Given the description of an element on the screen output the (x, y) to click on. 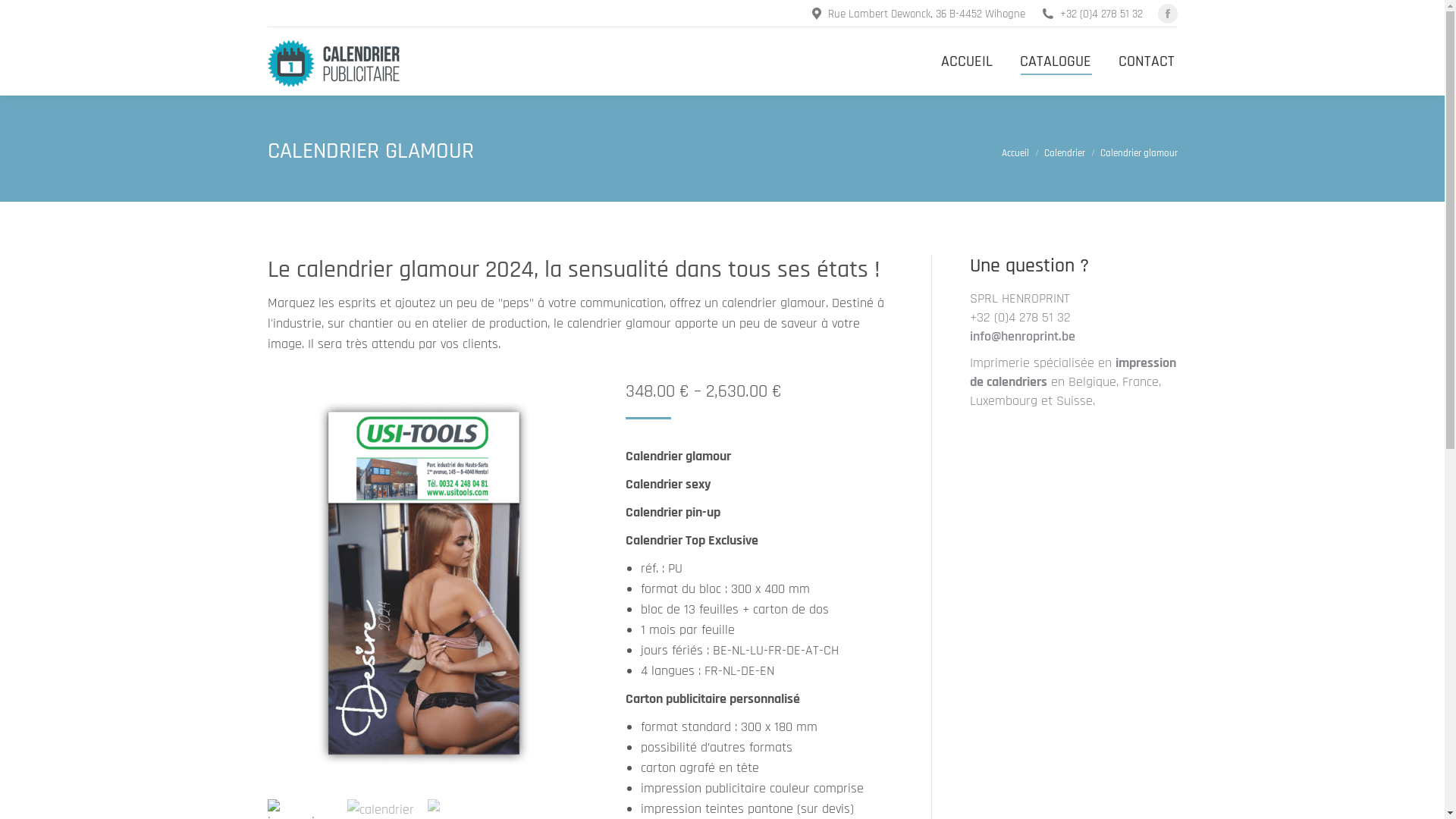
impression calendrier glamour desire 2024 Element type: hover (423, 582)
ACCUEIL Element type: text (965, 60)
info@henroprint.be Element type: text (1021, 336)
CATALOGUE Element type: text (1054, 60)
CONTACT Element type: text (1145, 60)
Facebook page opens in new window Element type: text (1166, 13)
Calendrier Element type: text (1063, 153)
Accueil Element type: text (1014, 153)
